Given the description of an element on the screen output the (x, y) to click on. 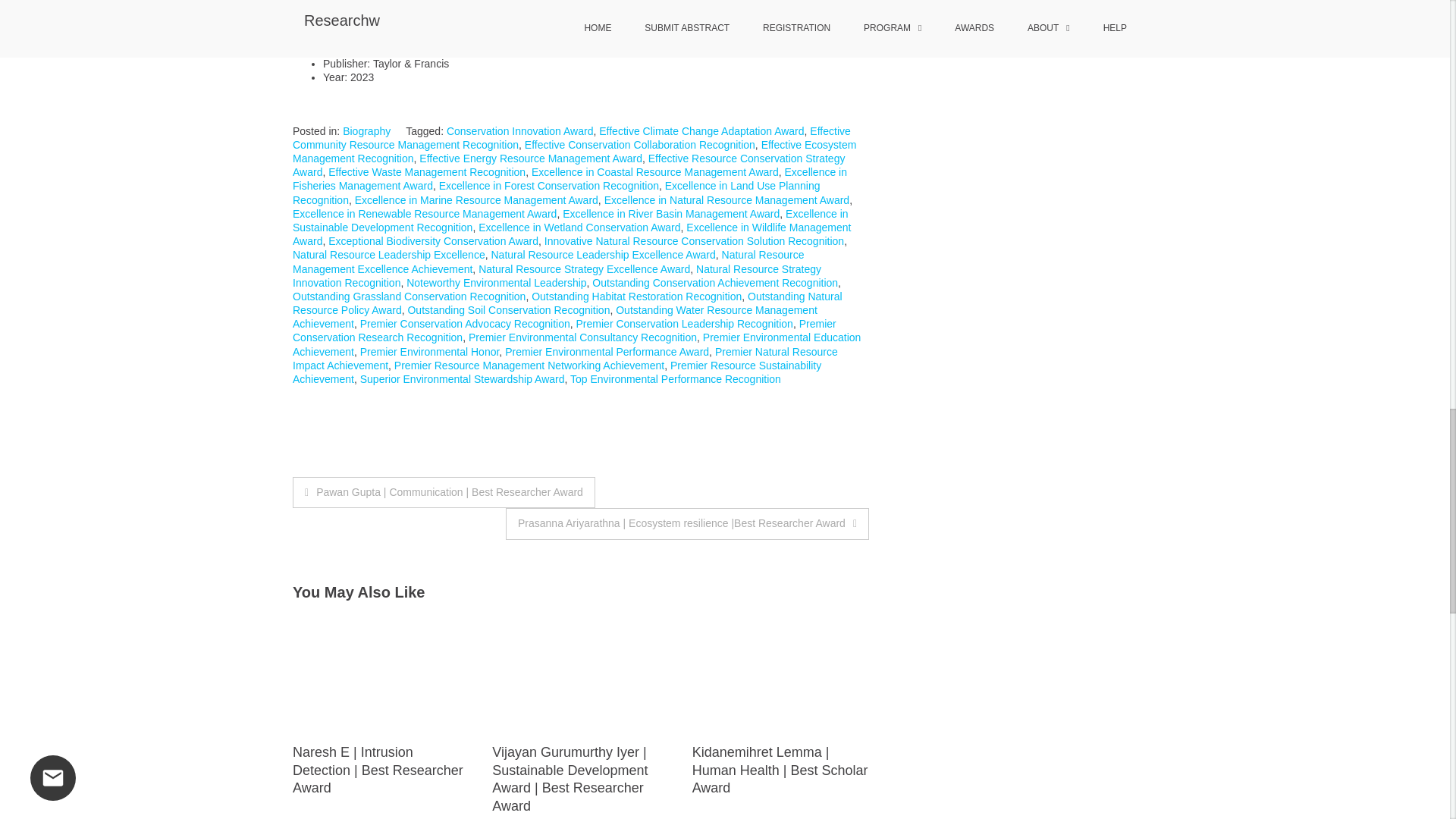
Effective Energy Resource Management Award (530, 158)
Effective Resource Conservation Strategy Award (568, 165)
Biography (366, 131)
Effective Waste Management Recognition (427, 172)
Effective Ecosystem Management Recognition (574, 151)
Effective Conservation Collaboration Recognition (639, 144)
Effective Climate Change Adaptation Award (700, 131)
Excellence in Coastal Resource Management Award (654, 172)
Effective Community Resource Management Recognition (571, 137)
Conservation Innovation Award (520, 131)
